Given the description of an element on the screen output the (x, y) to click on. 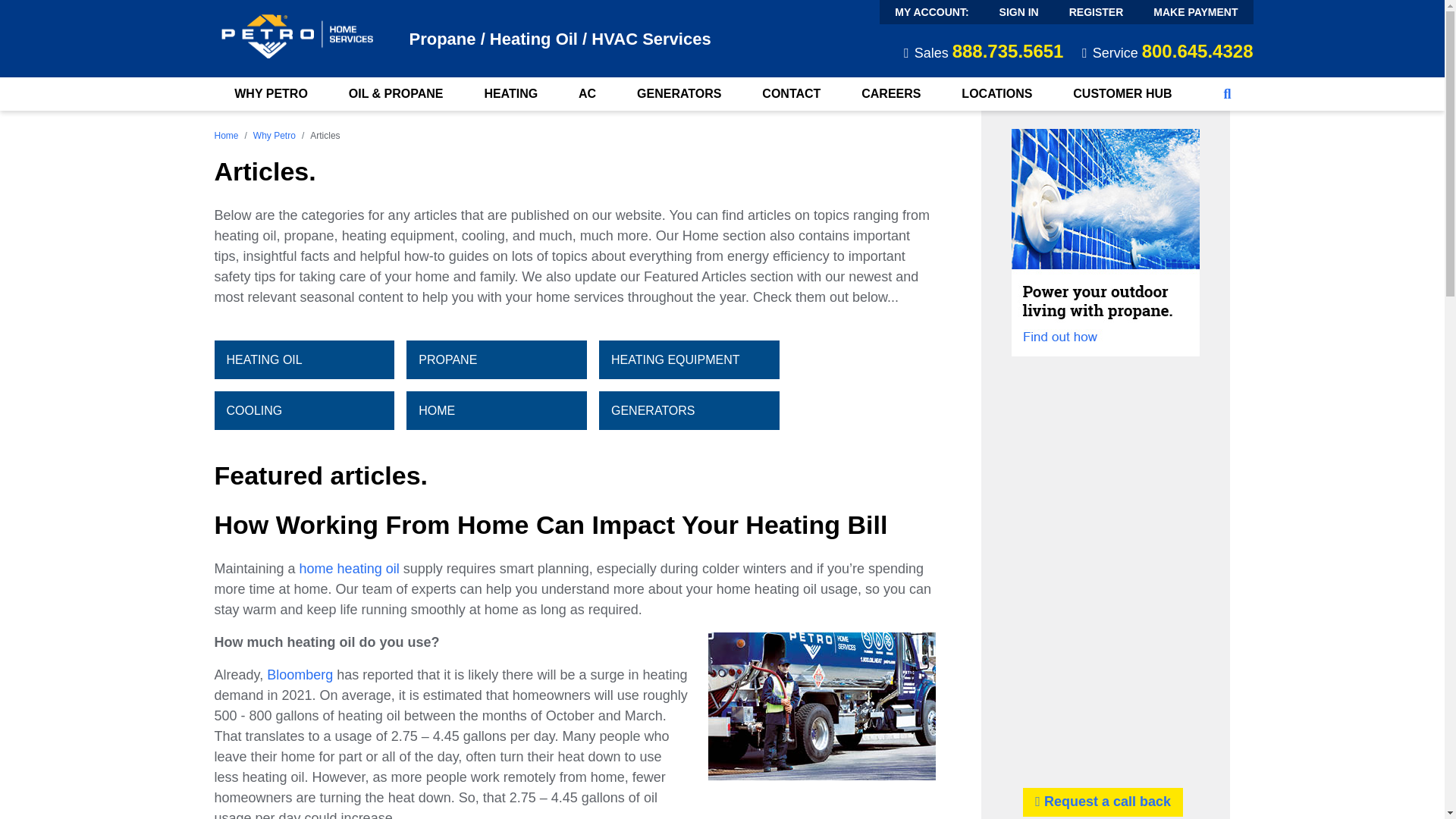
SIGN IN (1019, 12)
800.645.4328 (1197, 51)
REGISTER (1096, 12)
WHY PETRO (270, 93)
888.735.5651 (1008, 51)
MAKE PAYMENT (1195, 12)
